Given the description of an element on the screen output the (x, y) to click on. 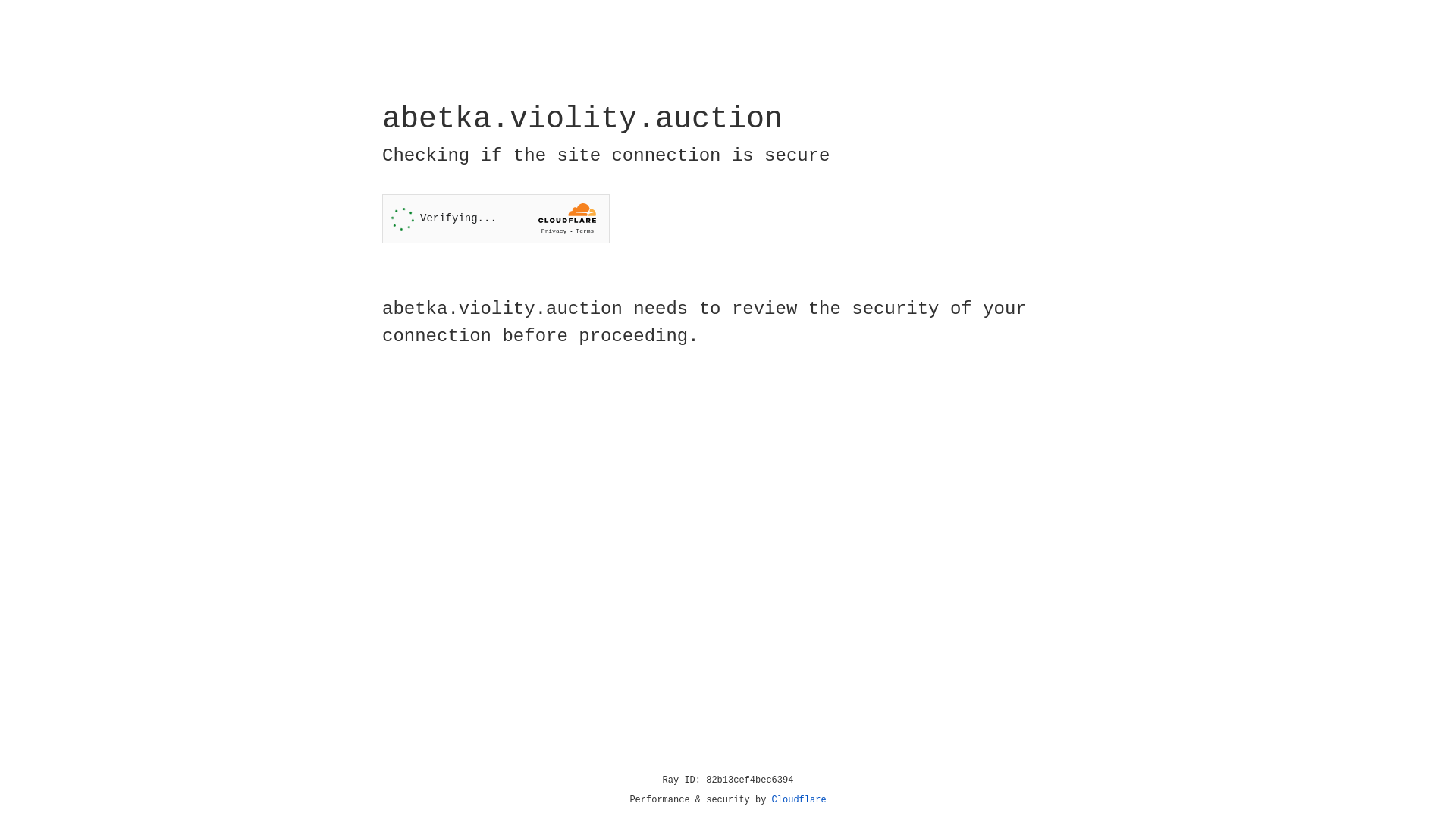
Cloudflare Element type: text (798, 799)
Widget containing a Cloudflare security challenge Element type: hover (495, 218)
